Given the description of an element on the screen output the (x, y) to click on. 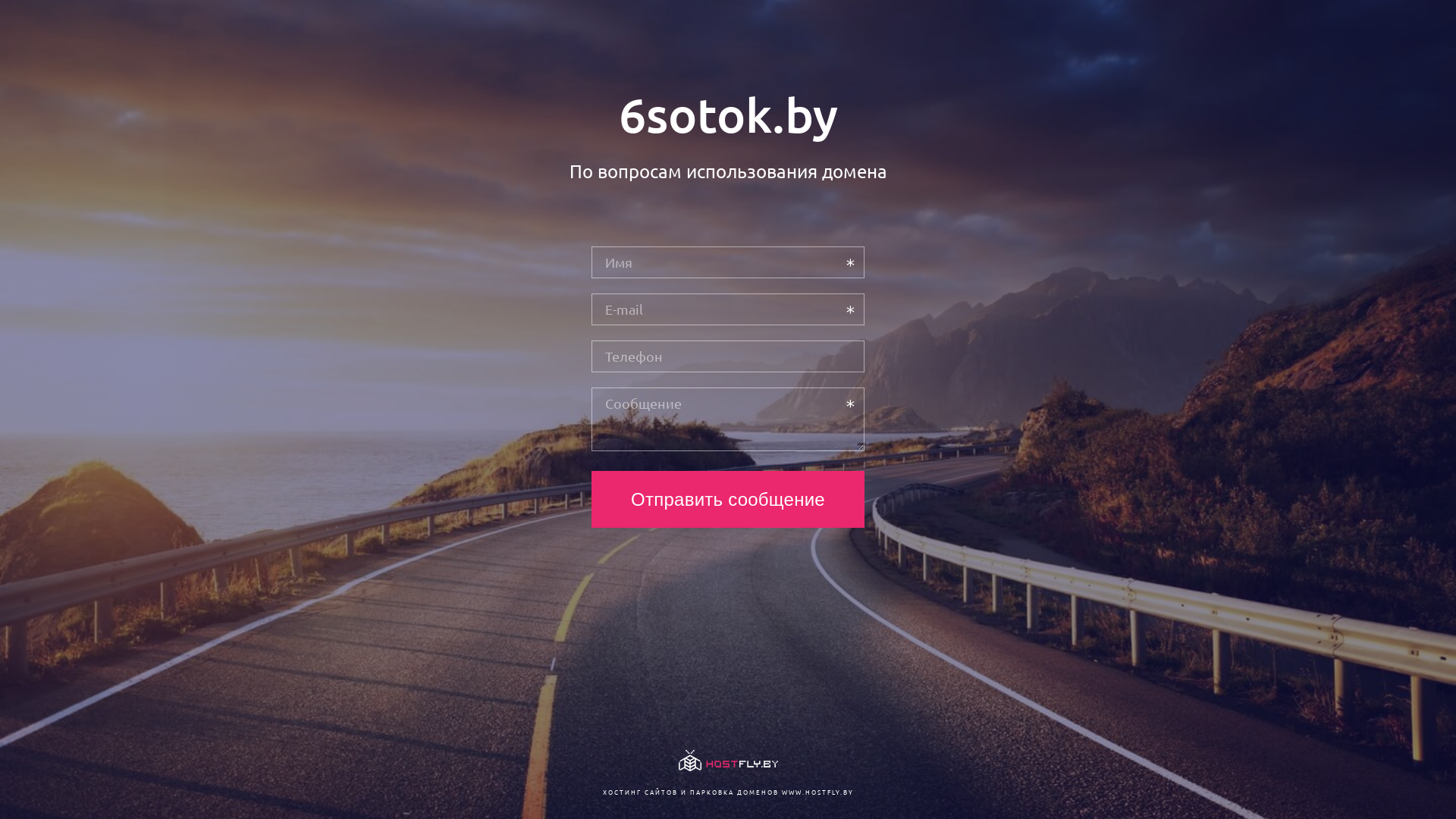
WWW.HOSTFLY.BY Element type: text (817, 791)
